Given the description of an element on the screen output the (x, y) to click on. 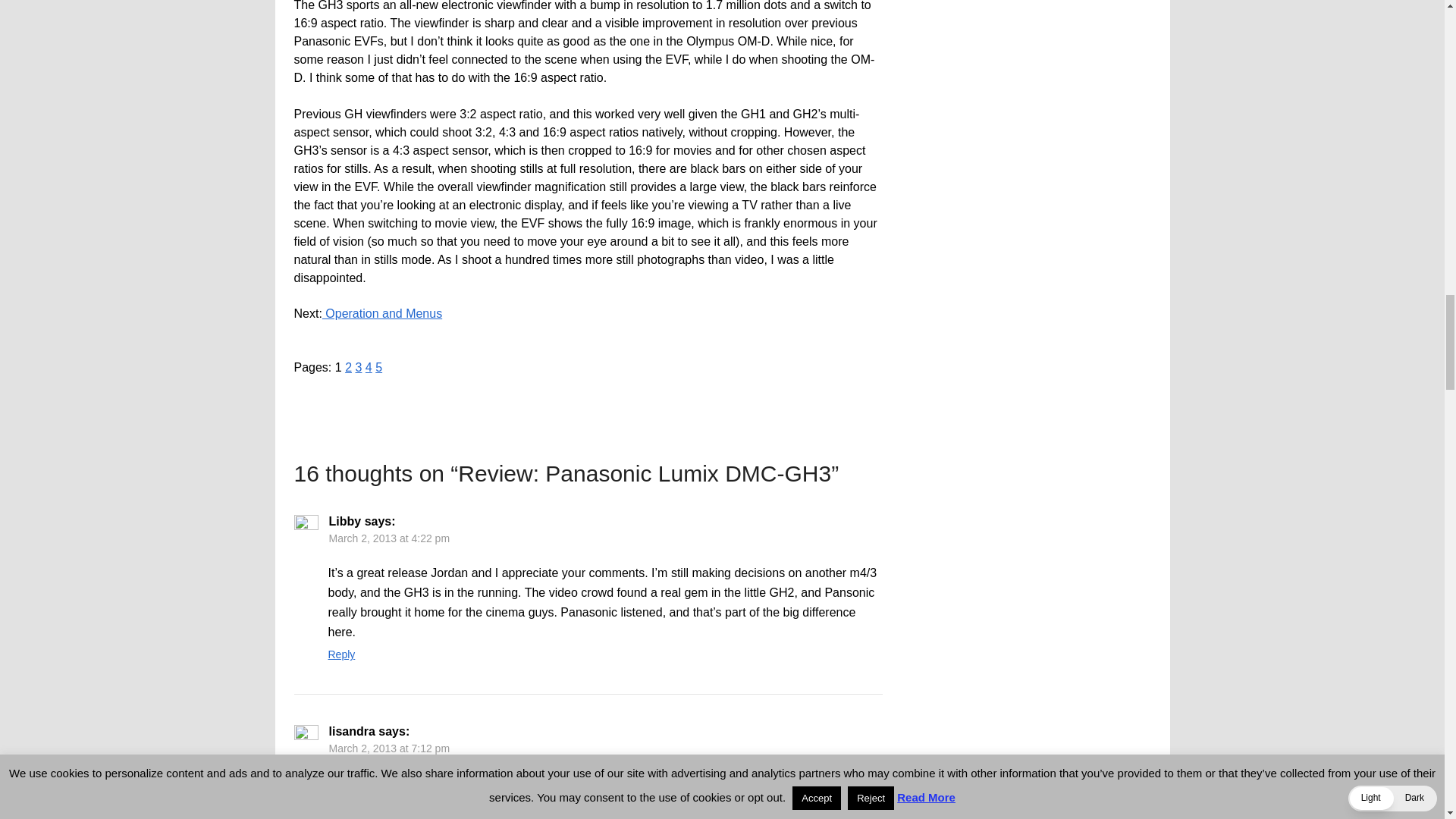
March 2, 2013 at 7:12 pm (389, 748)
March 2, 2013 at 4:22 pm (389, 538)
Operation and Menus (381, 313)
Reply (341, 654)
